Given the description of an element on the screen output the (x, y) to click on. 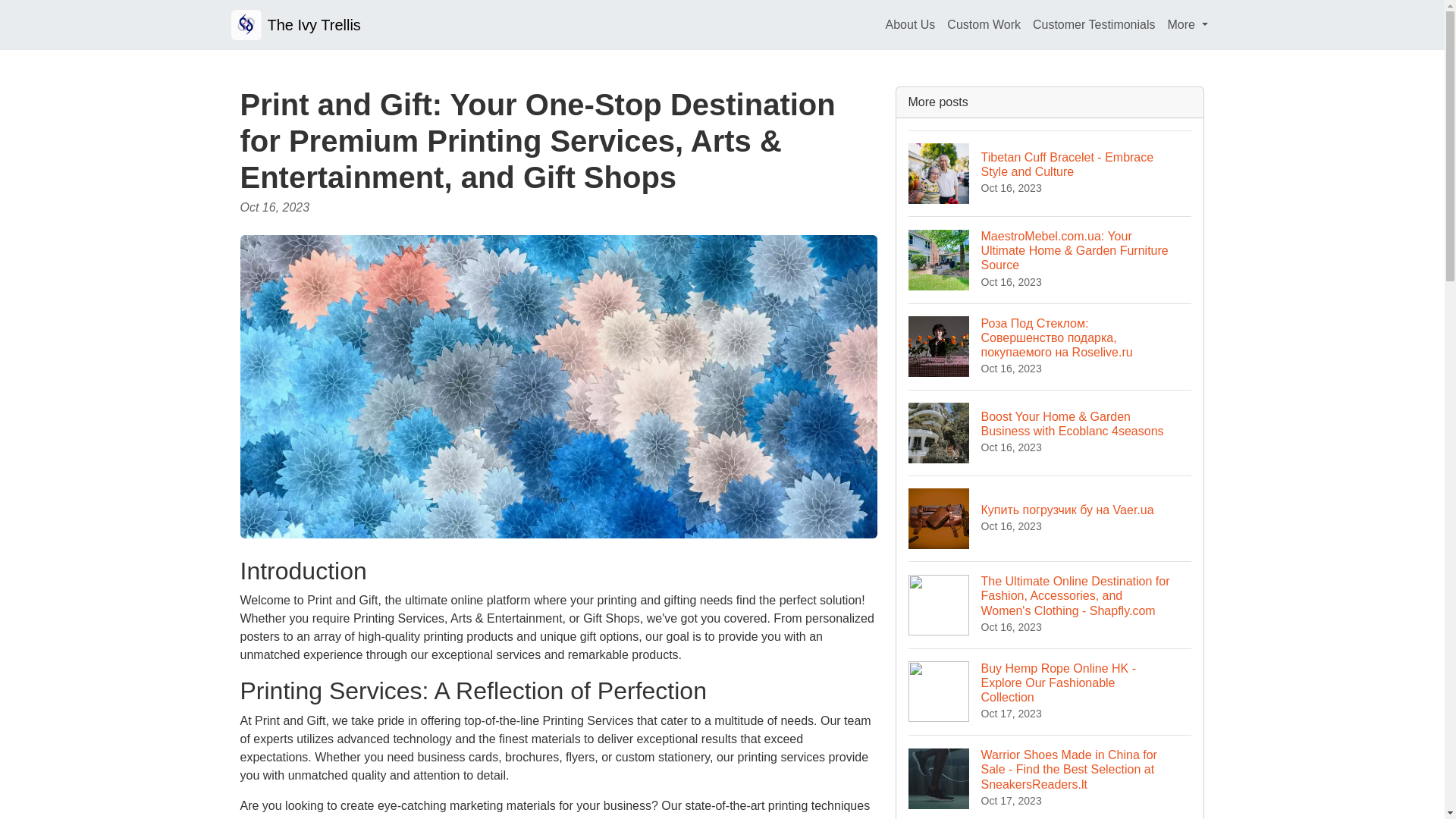
Customer Testimonials (1093, 24)
More (1187, 24)
The Ivy Trellis (294, 24)
About Us (910, 24)
Custom Work (983, 24)
